Given the description of an element on the screen output the (x, y) to click on. 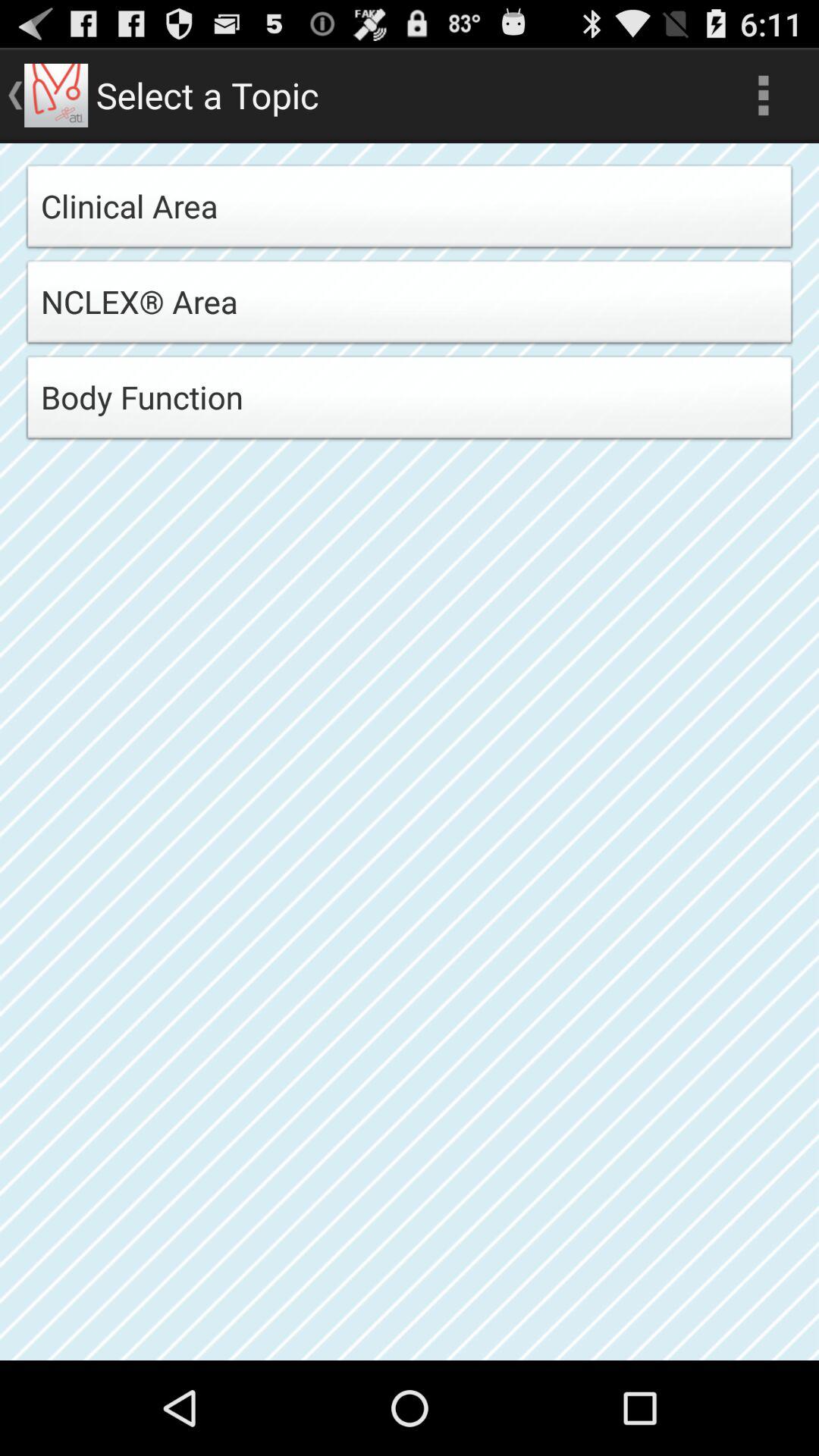
click icon next to the select a topic (763, 95)
